Given the description of an element on the screen output the (x, y) to click on. 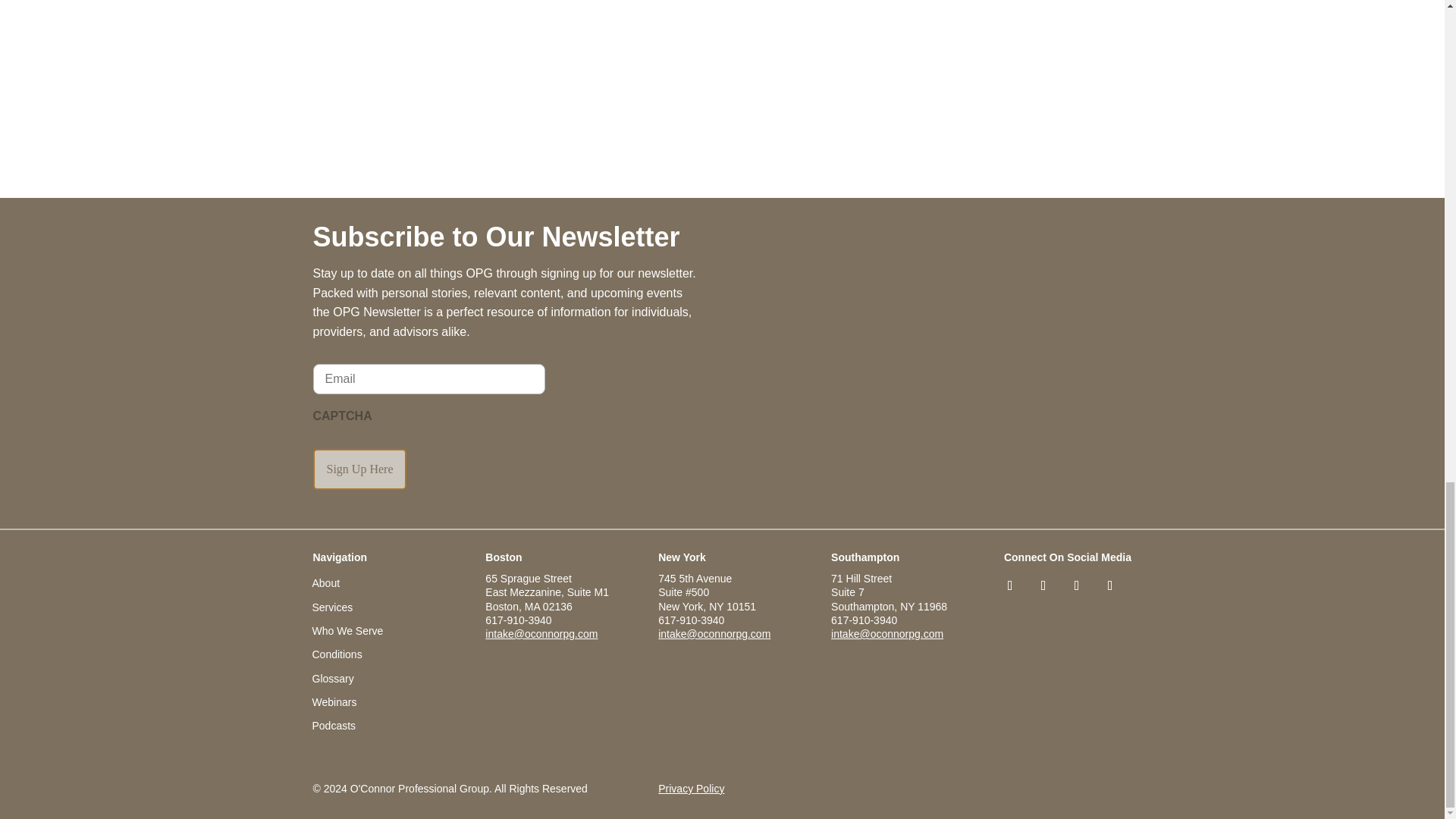
Follow on Facebook (1076, 584)
Sign Up Here (359, 468)
Follow on LinkedIn (1009, 584)
Follow on X (1043, 584)
Follow on Youtube (1110, 584)
